Given the description of an element on the screen output the (x, y) to click on. 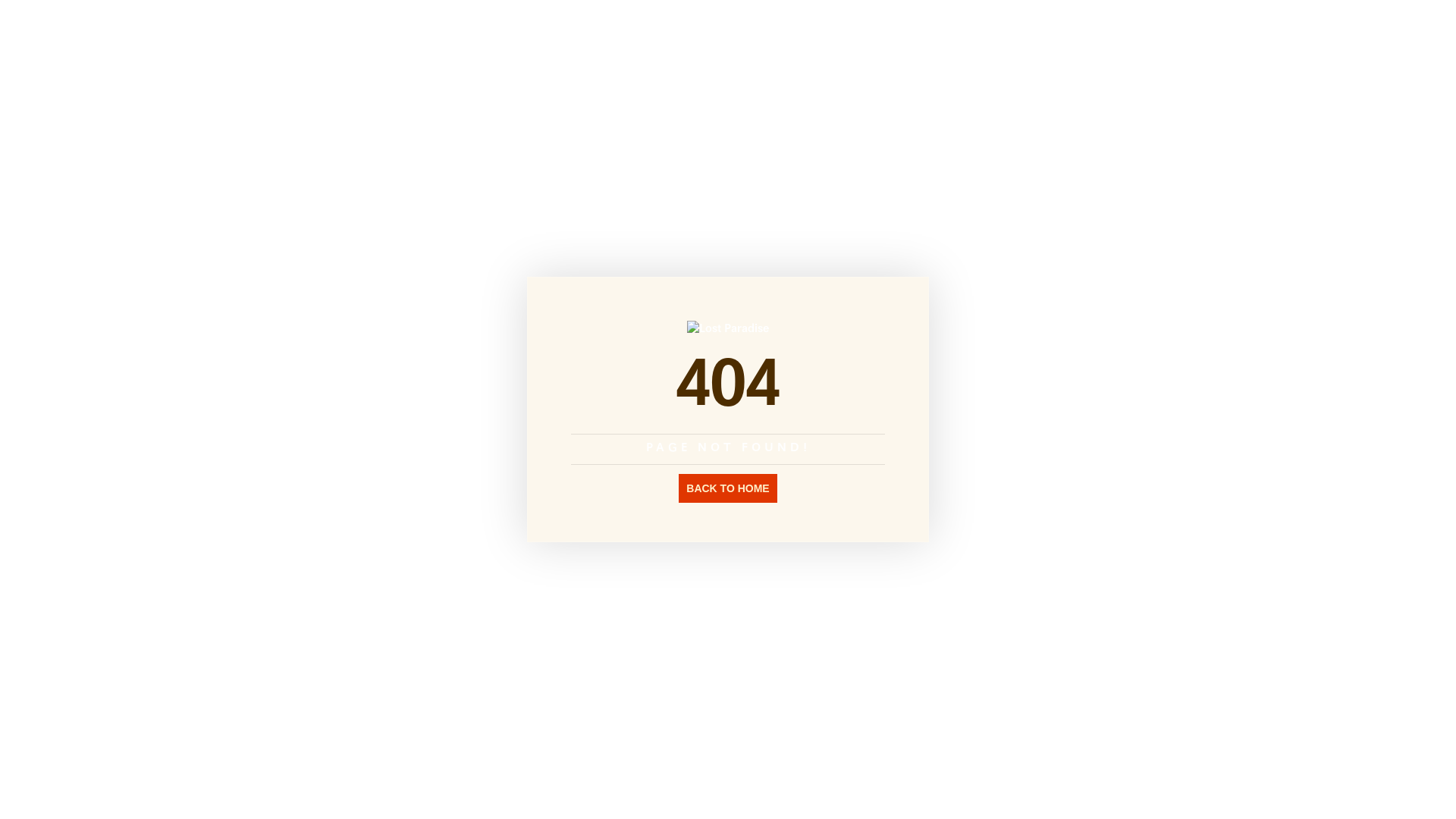
BACK TO HOME Element type: text (727, 487)
